Given the description of an element on the screen output the (x, y) to click on. 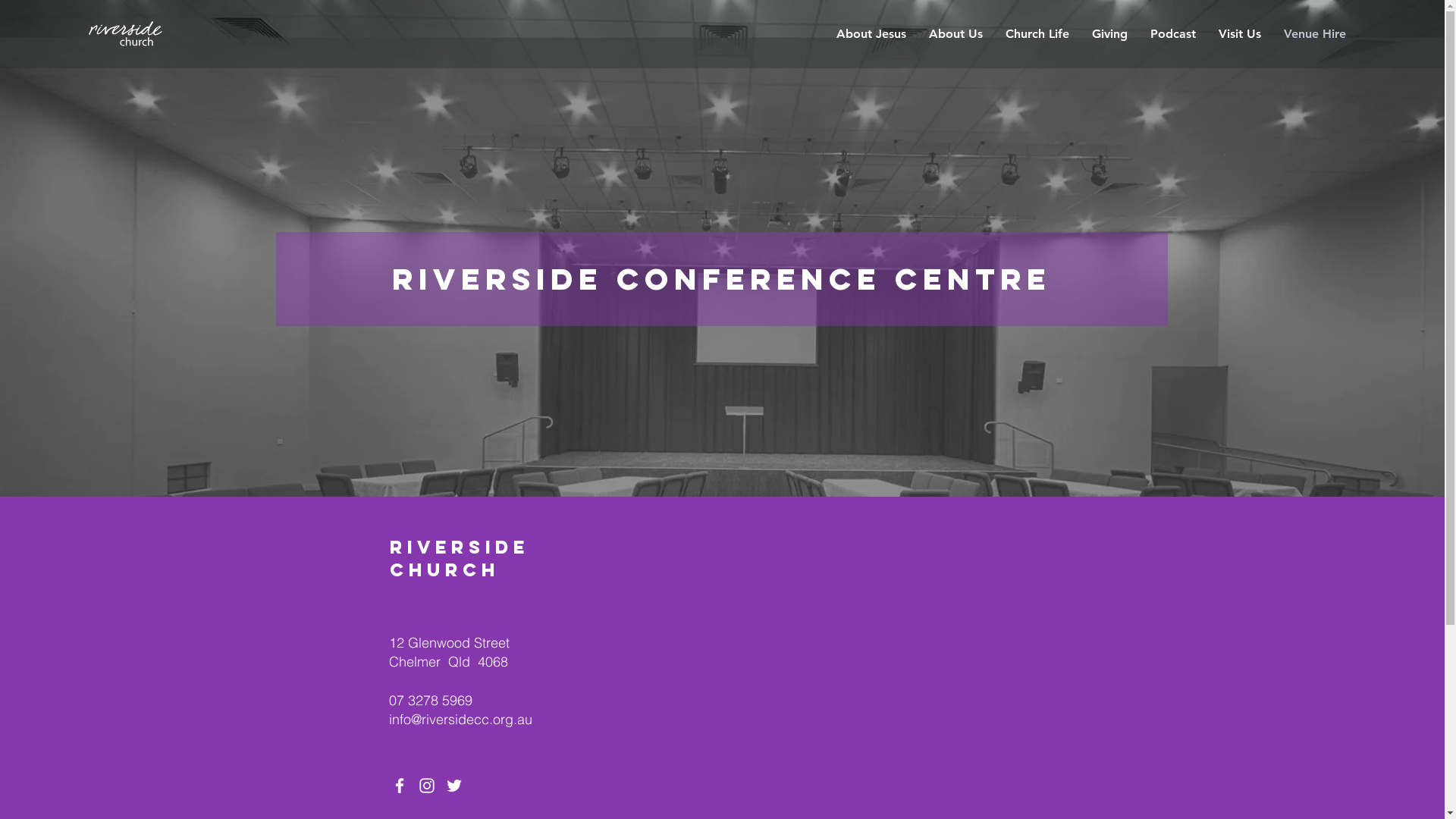
About Us Element type: text (955, 34)
info@riversidecc.org.au Element type: text (459, 719)
About Jesus Element type: text (871, 34)
Venue Hire Element type: text (1314, 34)
Visit Us Element type: text (1239, 34)
Church Life Element type: text (1037, 34)
Giving Element type: text (1109, 34)
Podcast Element type: text (1173, 34)
RIVERSIDE CONFERENCE CENTRE Element type: text (721, 279)
